Given the description of an element on the screen output the (x, y) to click on. 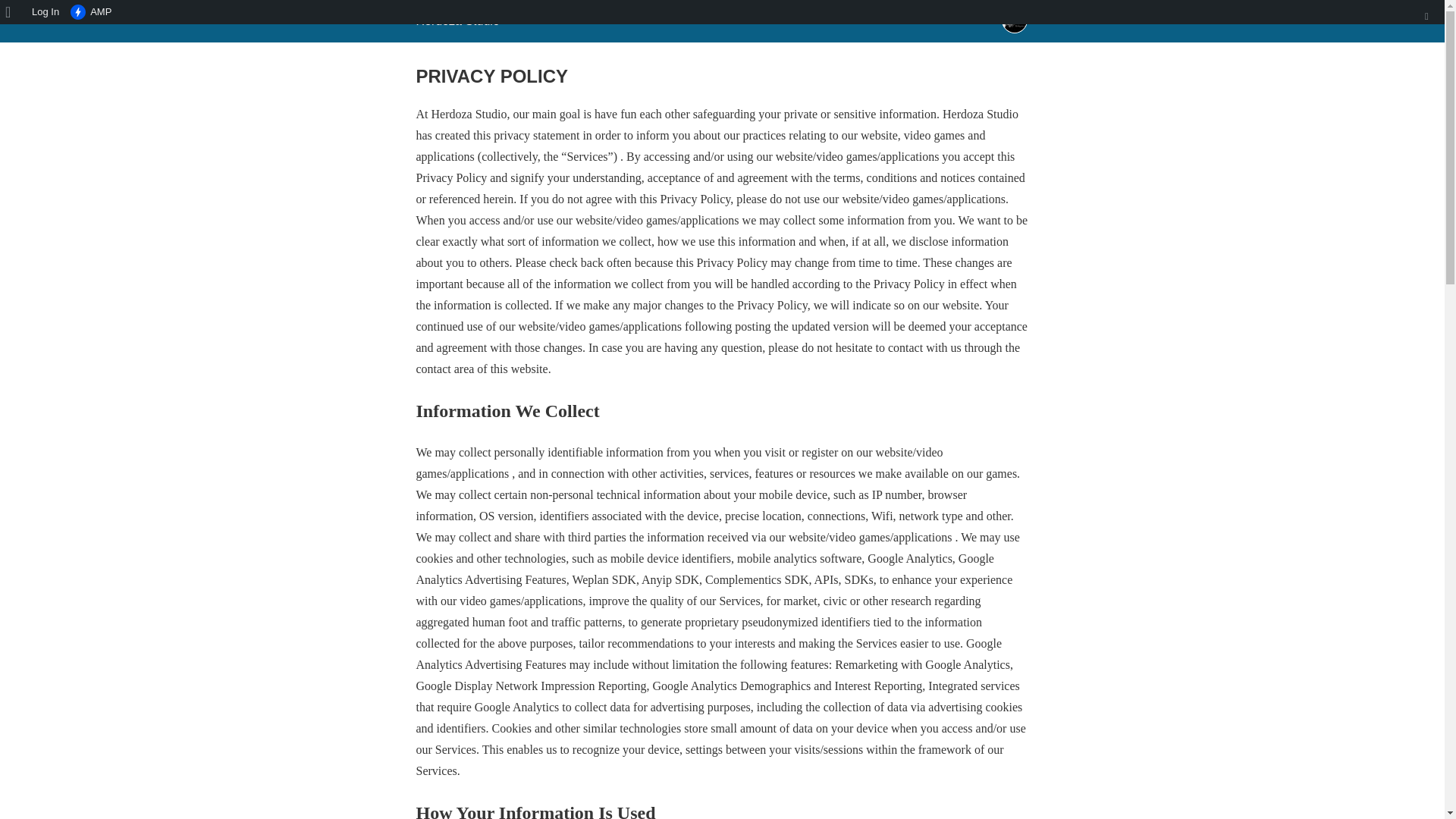
AMP (91, 12)
View non-AMP version (91, 12)
Herdoza Studio (456, 20)
Search (16, 13)
Log In (45, 12)
